Given the description of an element on the screen output the (x, y) to click on. 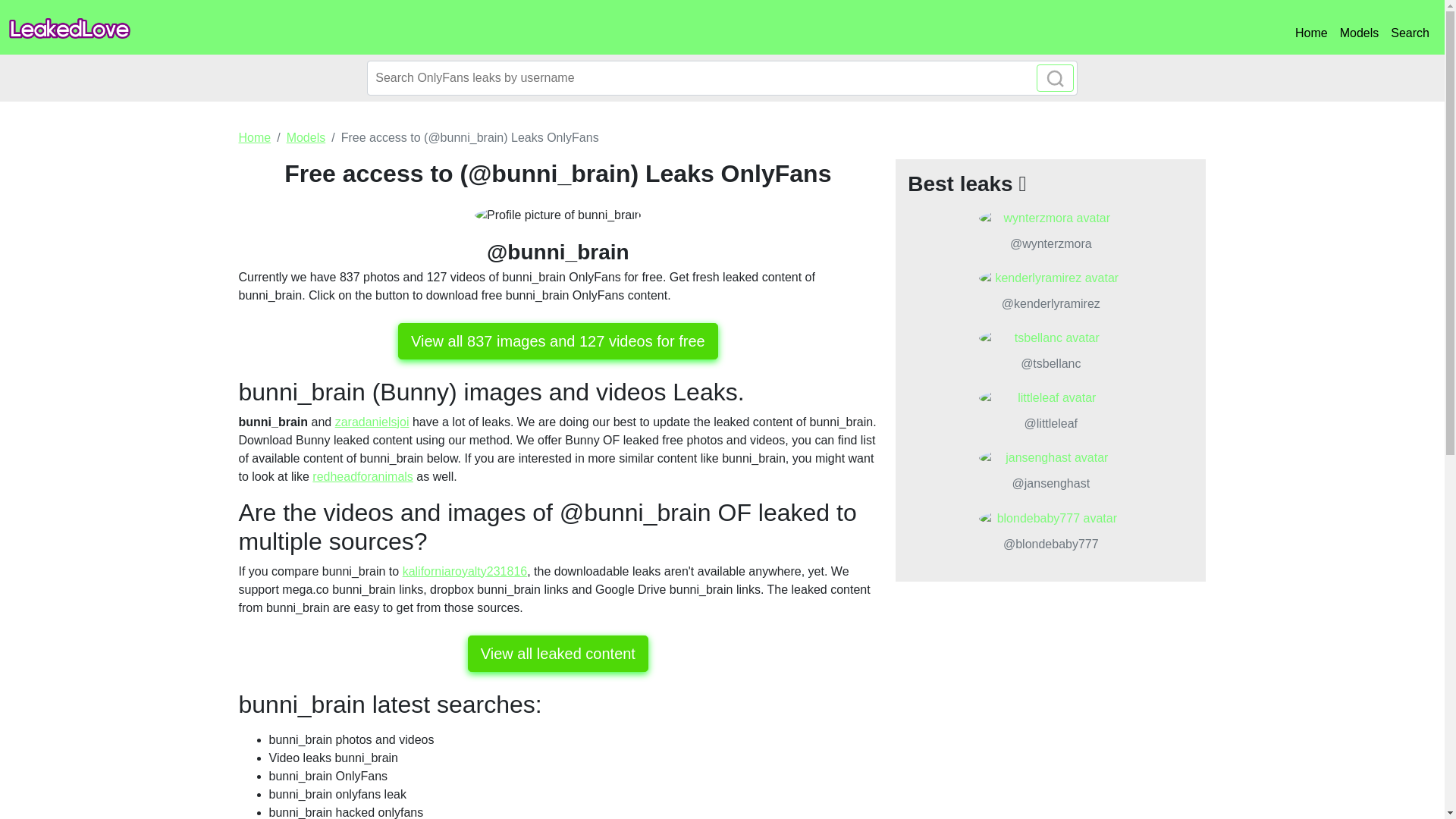
Search (1409, 33)
zaradanielsjoi (371, 421)
Home (254, 137)
kaliforniaroyalty231816 (465, 571)
View all leaked content (557, 653)
redheadforanimals (363, 476)
Models (306, 137)
Models (1359, 33)
Home (1310, 33)
View all 837 images and 127 videos for free (557, 340)
